Given the description of an element on the screen output the (x, y) to click on. 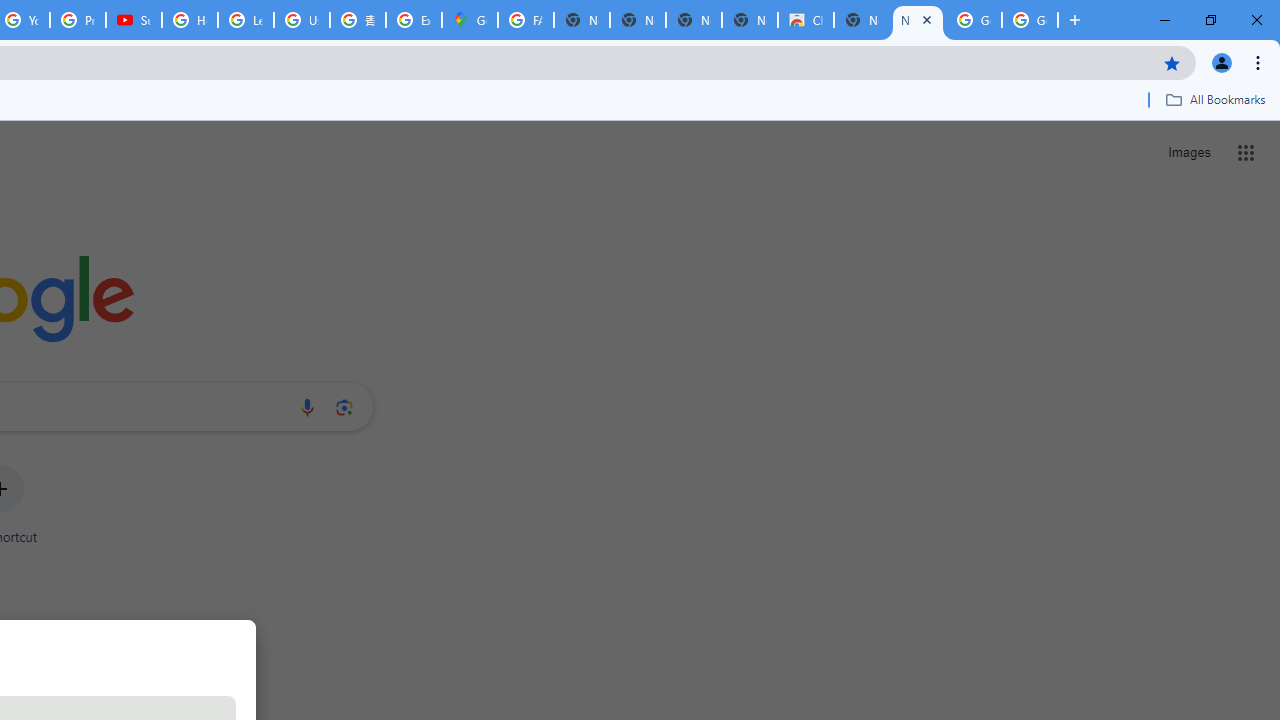
Chrome Web Store (806, 20)
Subscriptions - YouTube (134, 20)
All Bookmarks (1215, 99)
